Given the description of an element on the screen output the (x, y) to click on. 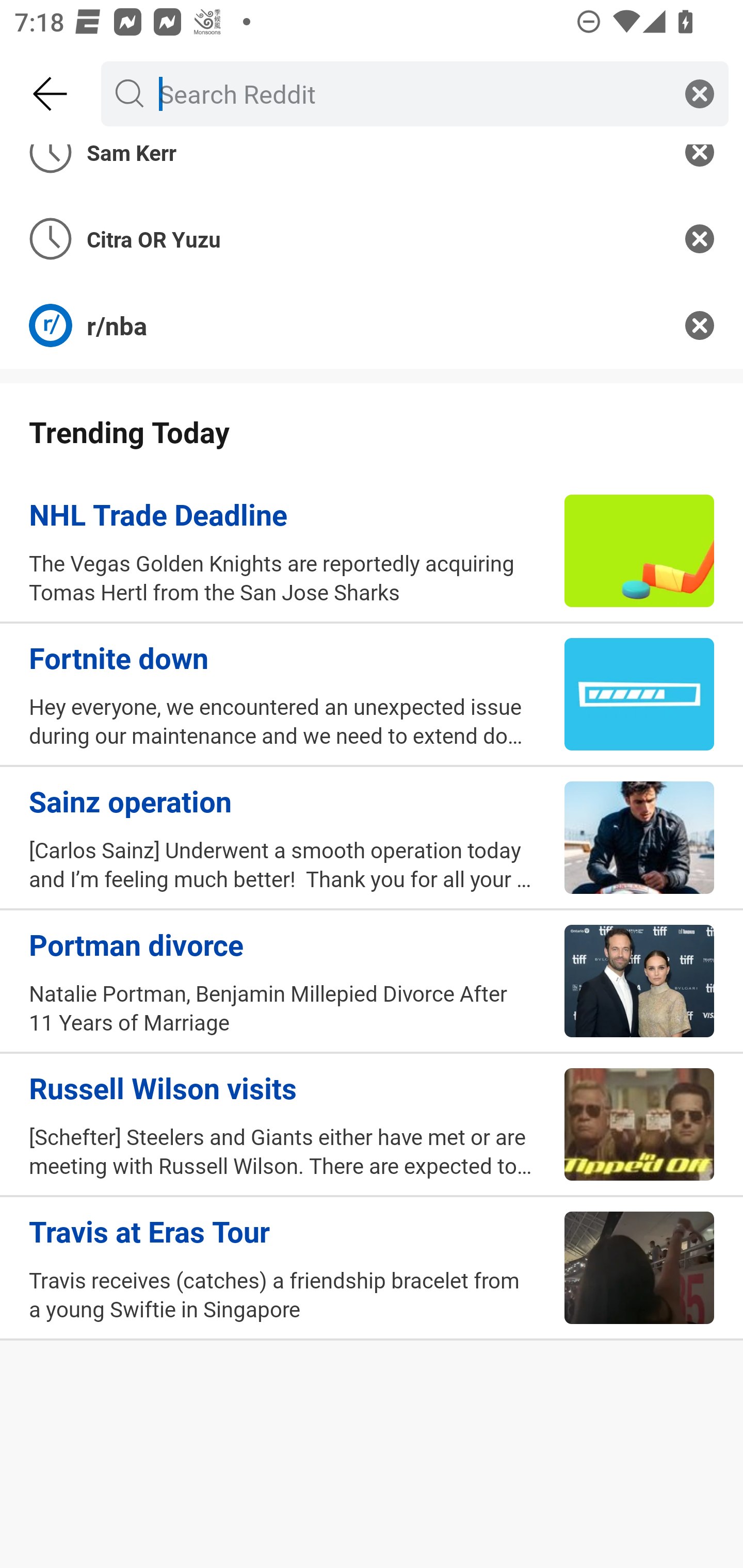
Back (50, 93)
Search Reddit (410, 93)
Clear search (699, 93)
Sam Kerr Recent search: Sam Kerr Remove (371, 170)
Remove (699, 170)
Citra OR Yuzu Recent search: Citra OR Yuzu Remove (371, 239)
Remove (699, 239)
r/nba Recent search: r/nba Remove (371, 325)
Remove (699, 325)
